Given the description of an element on the screen output the (x, y) to click on. 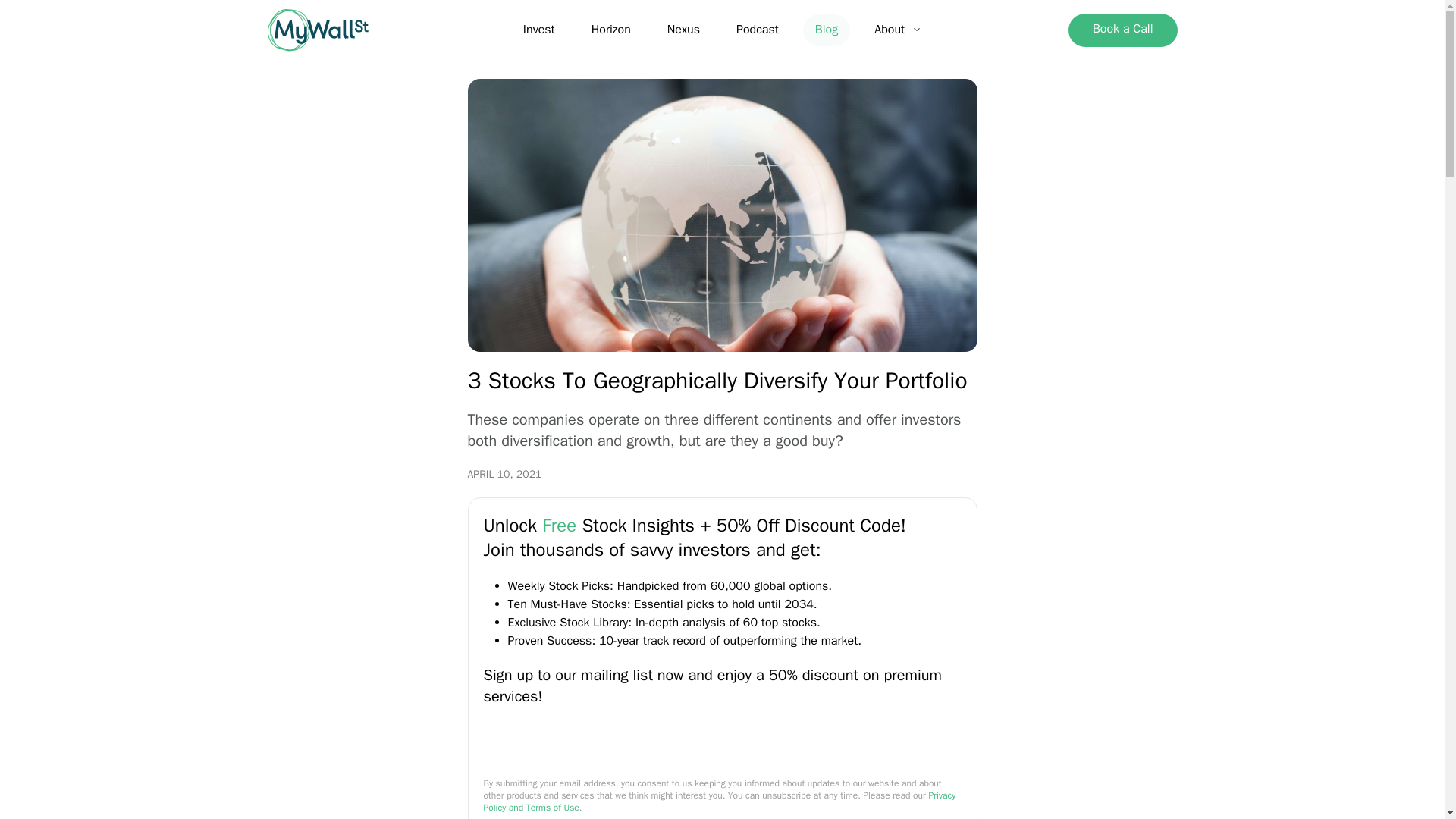
Blog (826, 29)
Book a Call (1122, 29)
Invest (538, 29)
Nexus (683, 29)
About (897, 29)
Privacy Policy and Terms of Use (719, 801)
Podcast (757, 29)
Horizon (610, 29)
